Given the description of an element on the screen output the (x, y) to click on. 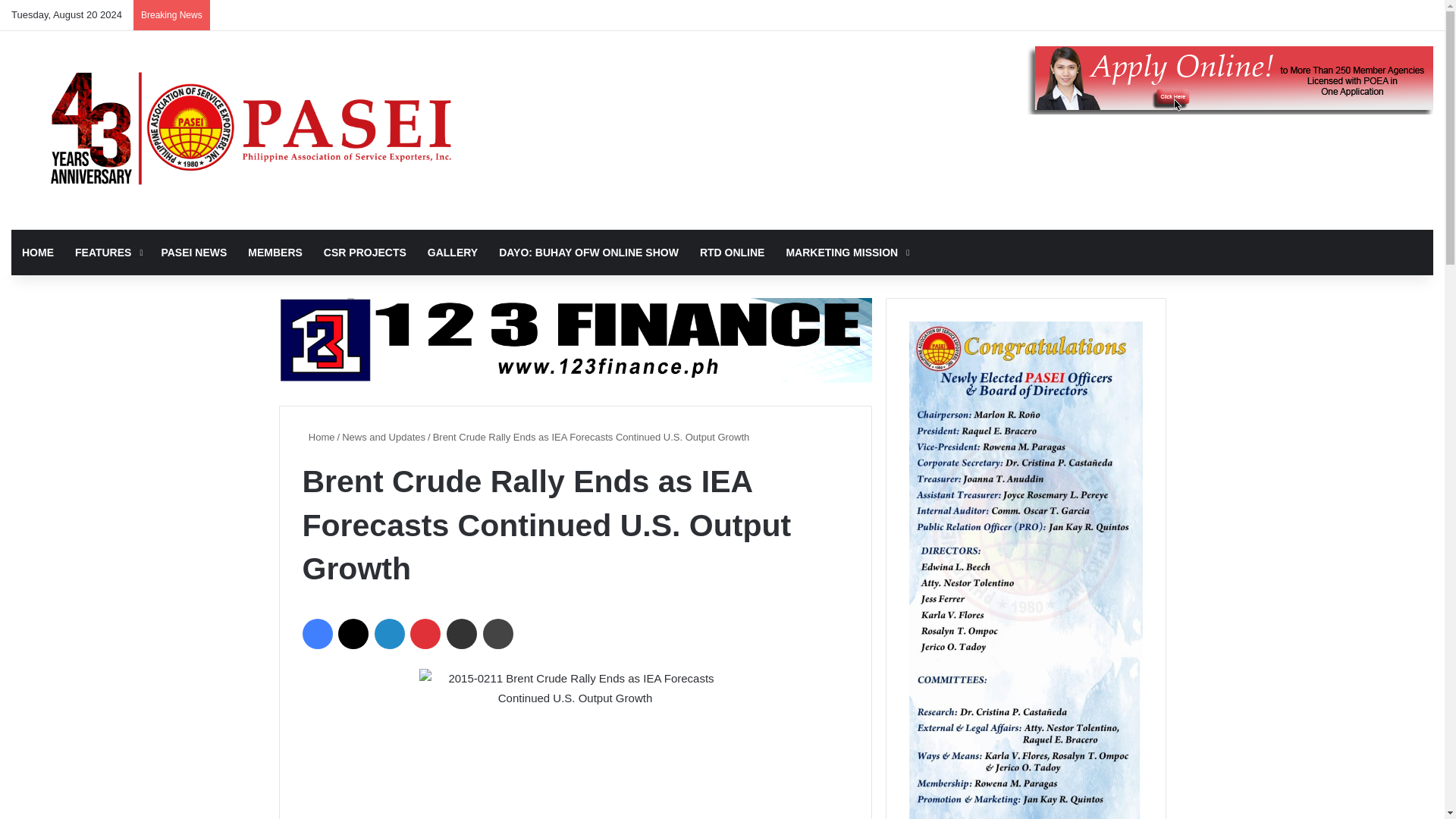
HOME (37, 252)
Pinterest (425, 634)
DAYO: BUHAY OFW ONLINE SHOW (587, 252)
RTD ONLINE (732, 252)
PASEI NEWS (193, 252)
Print (498, 634)
MEMBERS (275, 252)
FEATURES (106, 252)
X (352, 634)
Share via Email (461, 634)
